Given the description of an element on the screen output the (x, y) to click on. 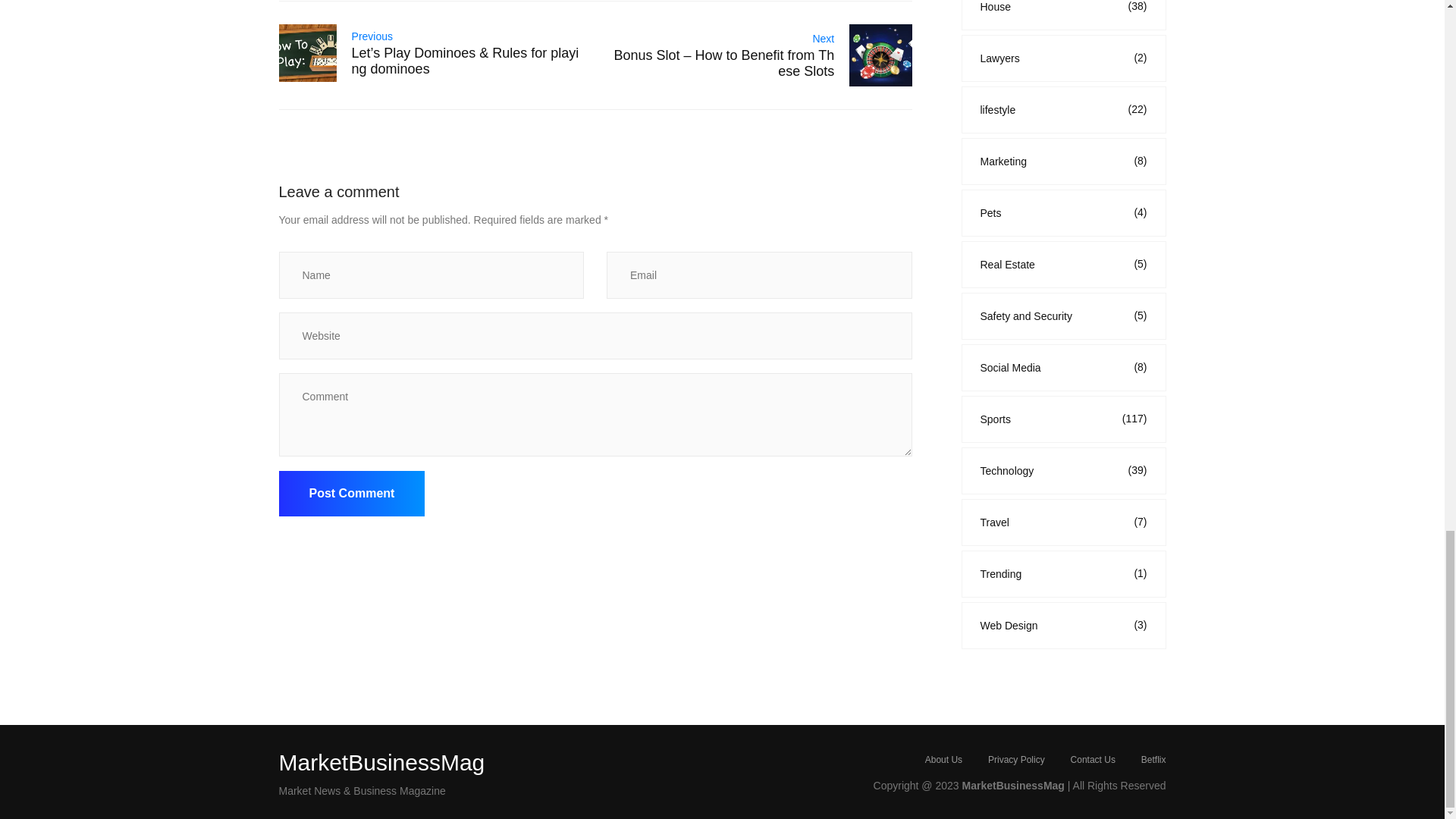
Next (823, 38)
Previous (372, 36)
Post Comment (352, 493)
Post Comment (352, 493)
